Given the description of an element on the screen output the (x, y) to click on. 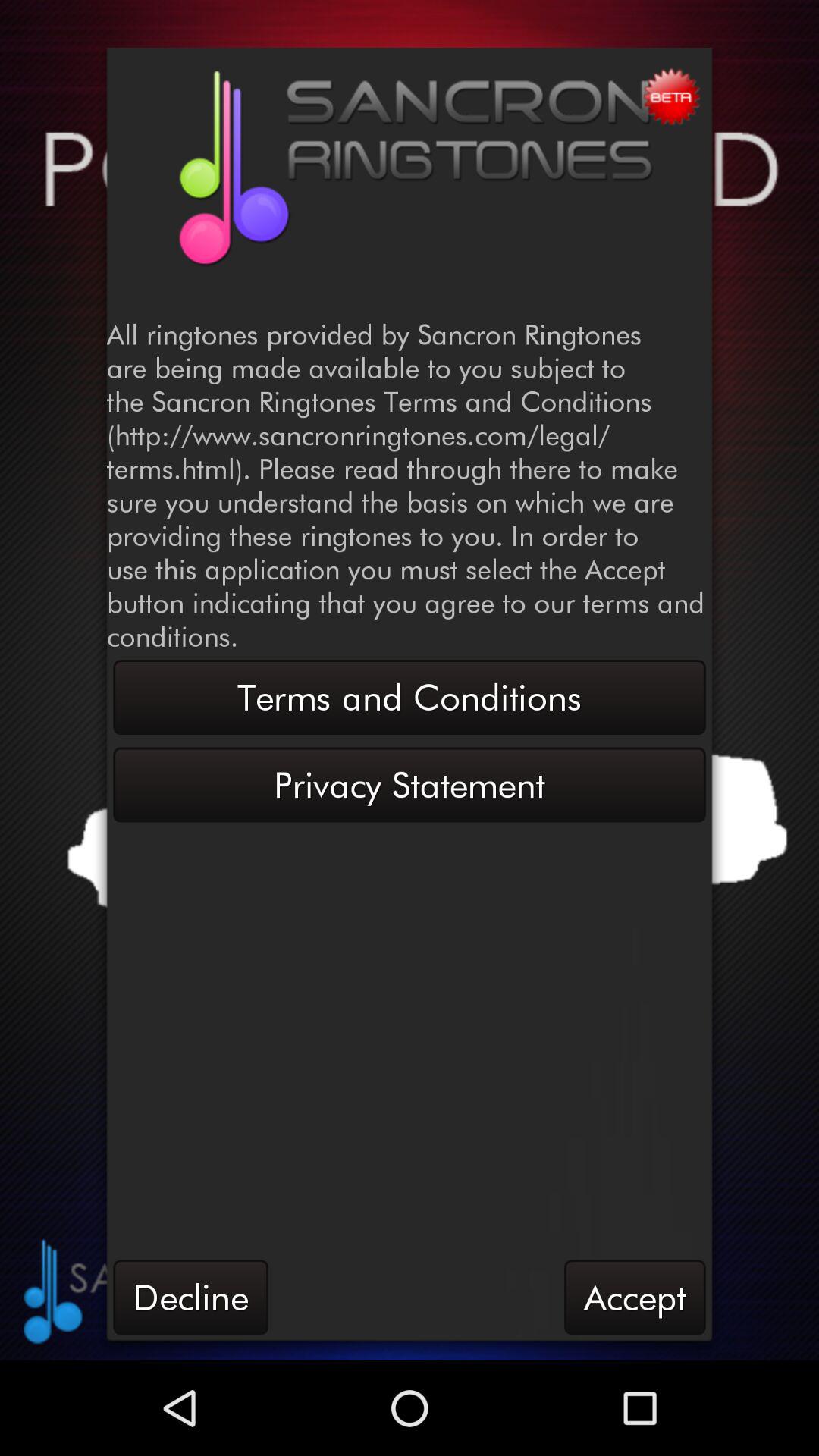
tap icon next to the accept (190, 1296)
